Given the description of an element on the screen output the (x, y) to click on. 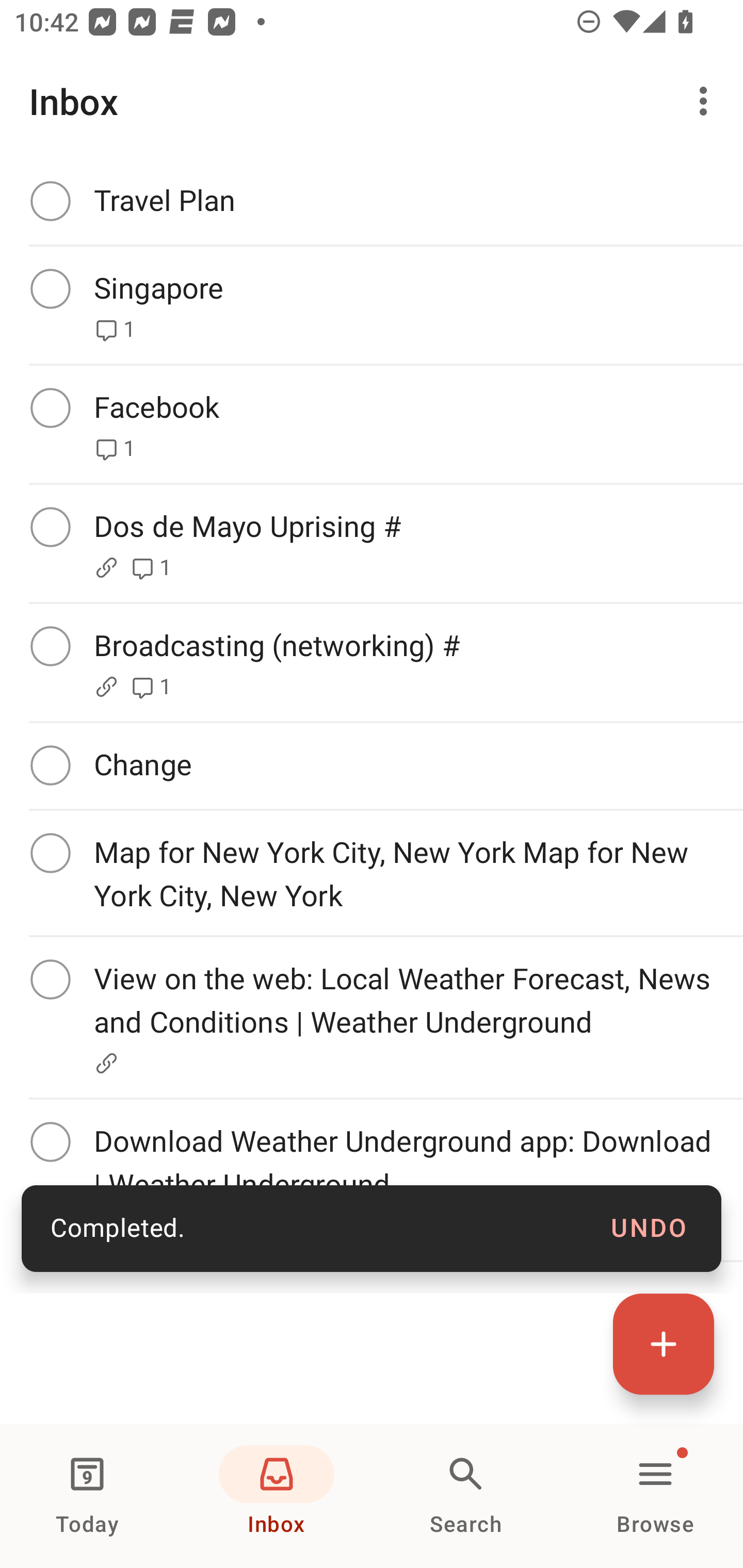
Inbox More options (371, 100)
More options (706, 101)
Complete Travel Plan (371, 201)
Complete (50, 200)
Complete Singapore 1 Comments (371, 304)
Complete (50, 288)
Complete Facebook 1 Comments (371, 423)
Complete (50, 407)
Complete (50, 526)
Complete (50, 645)
Complete Change (371, 765)
Complete (50, 765)
Complete (50, 852)
Complete (50, 979)
Complete (50, 1141)
UNDO (648, 1228)
Quick add (663, 1343)
Today (87, 1495)
Search (465, 1495)
Browse (655, 1495)
